Given the description of an element on the screen output the (x, y) to click on. 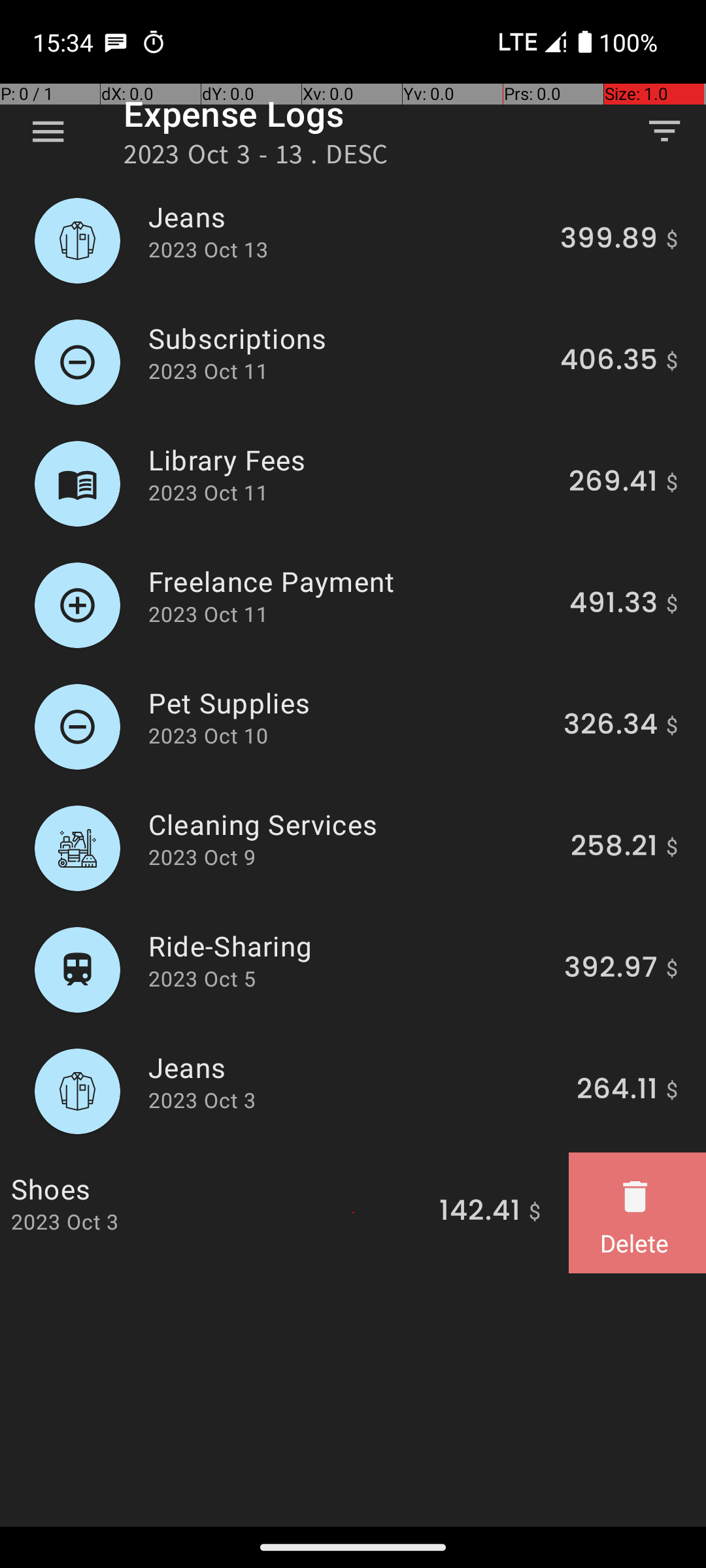
2023 Oct 3 - 13 . DESC Element type: android.widget.TextView (255, 157)
Filter Element type: android.widget.TextView (664, 131)
Jeans Element type: android.widget.TextView (346, 216)
399.89 Element type: android.widget.TextView (608, 240)
406.35 Element type: android.widget.TextView (608, 362)
Library Fees Element type: android.widget.TextView (350, 459)
269.41 Element type: android.widget.TextView (613, 483)
491.33 Element type: android.widget.TextView (613, 605)
Cleaning Services Element type: android.widget.TextView (351, 823)
258.21 Element type: android.widget.TextView (614, 848)
Ride-Sharing Element type: android.widget.TextView (348, 945)
2023 Oct 5 Element type: android.widget.TextView (201, 978)
392.97 Element type: android.widget.TextView (610, 969)
2023 Oct 3 Element type: android.widget.TextView (201, 1099)
264.11 Element type: android.widget.TextView (616, 1091)
Shoes Element type: android.widget.TextView (217, 1188)
142.41 Element type: android.widget.TextView (479, 1212)
Pet Supplies Element type: android.widget.TextView (348, 702)
326.34 Element type: android.widget.TextView (610, 726)
SMS Messenger notification: +15785288010 Element type: android.widget.ImageView (115, 41)
